Given the description of an element on the screen output the (x, y) to click on. 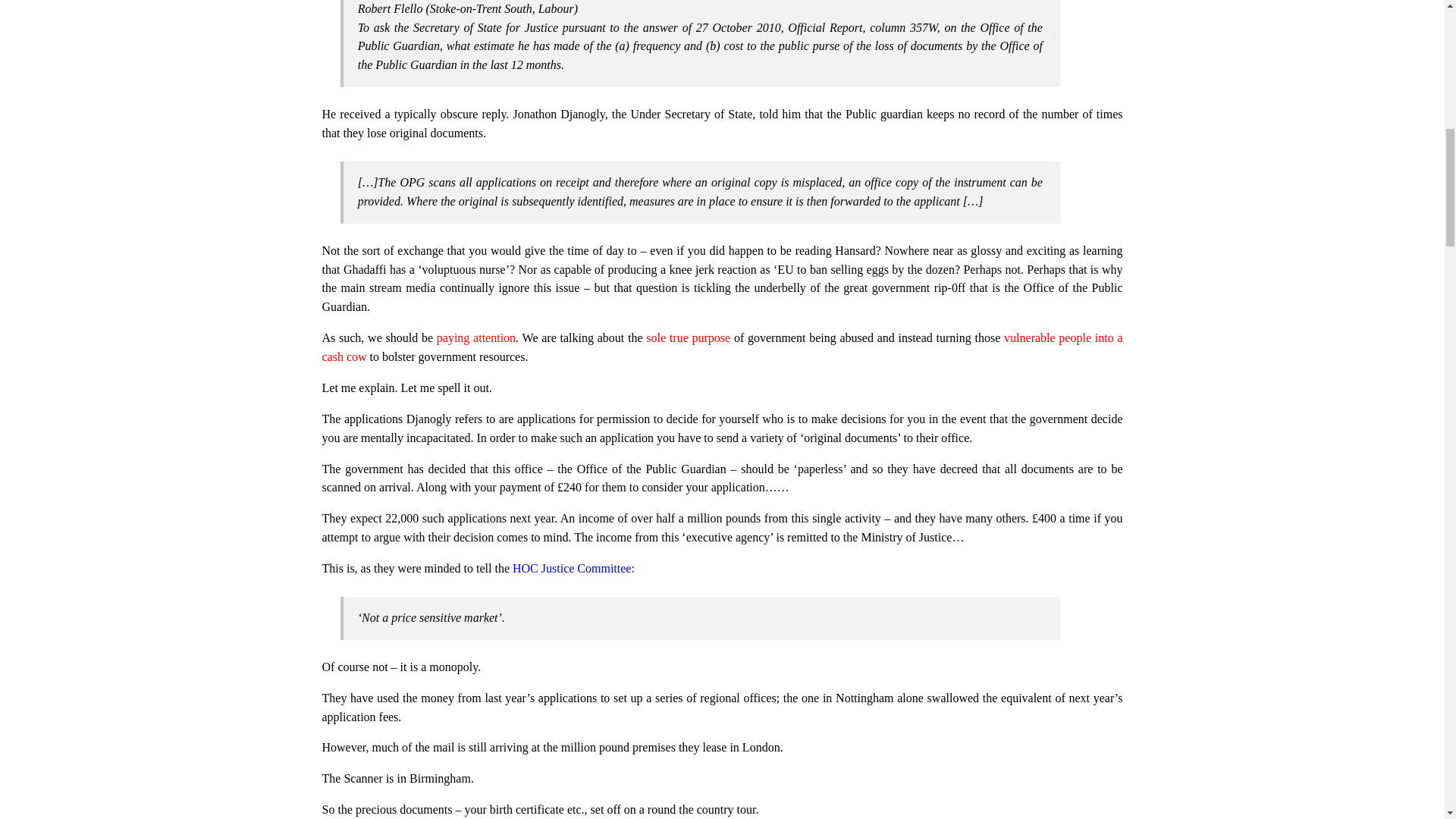
HOC Justice Committee: (573, 567)
